Given the description of an element on the screen output the (x, y) to click on. 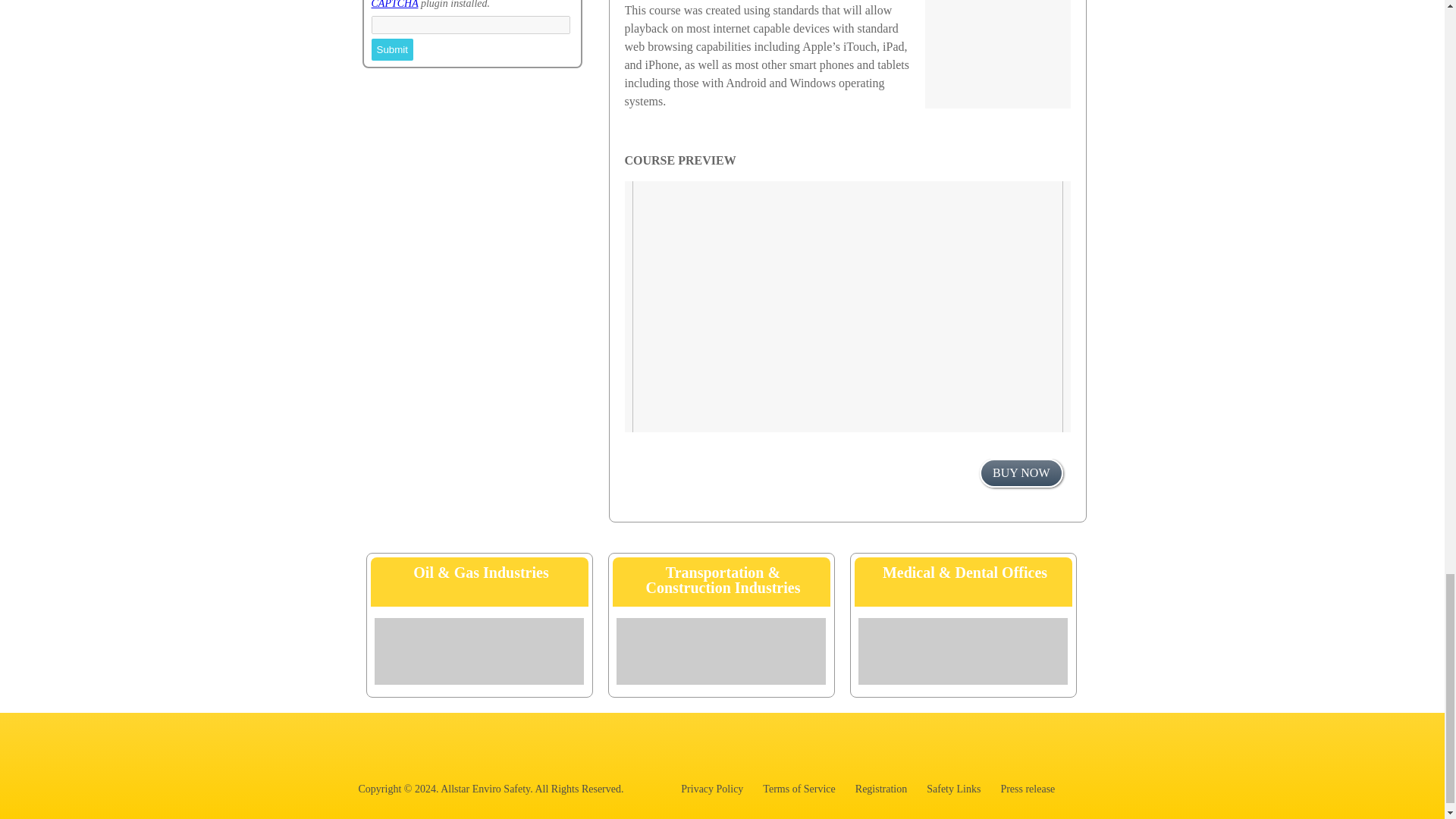
BUY NOW (1020, 472)
Submit (392, 49)
